Given the description of an element on the screen output the (x, y) to click on. 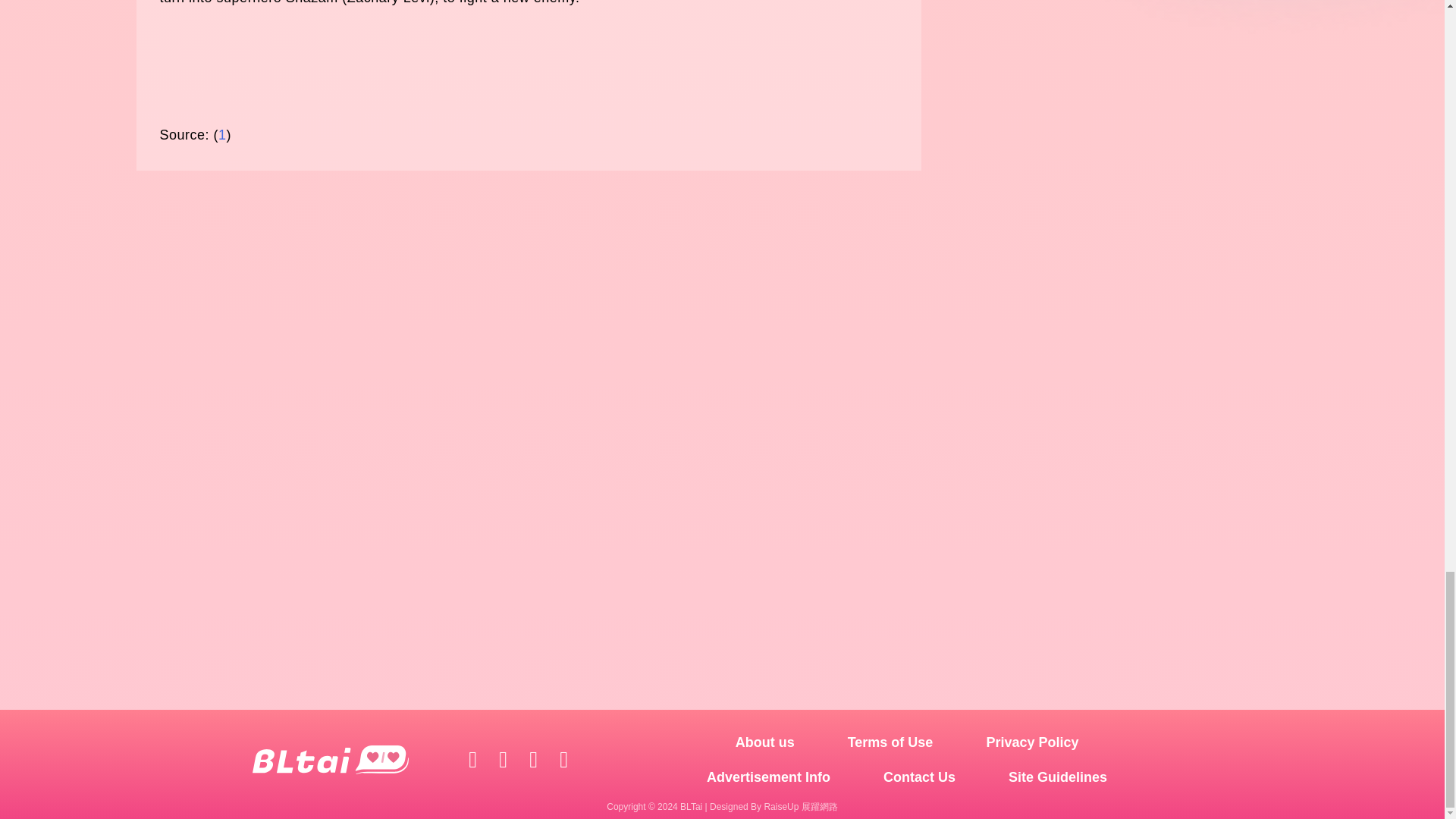
1 (222, 134)
